Given the description of an element on the screen output the (x, y) to click on. 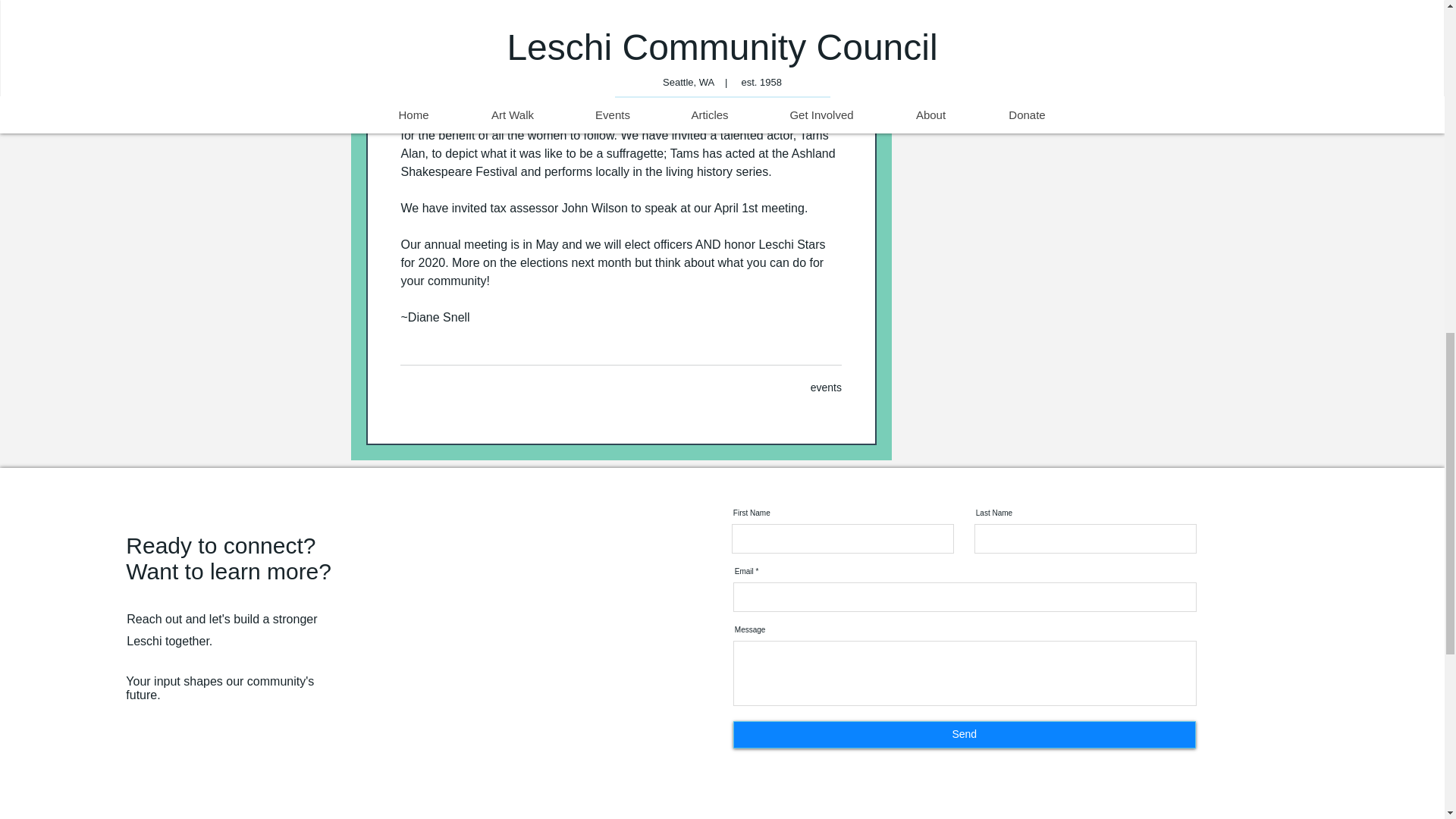
events (825, 387)
